Given the description of an element on the screen output the (x, y) to click on. 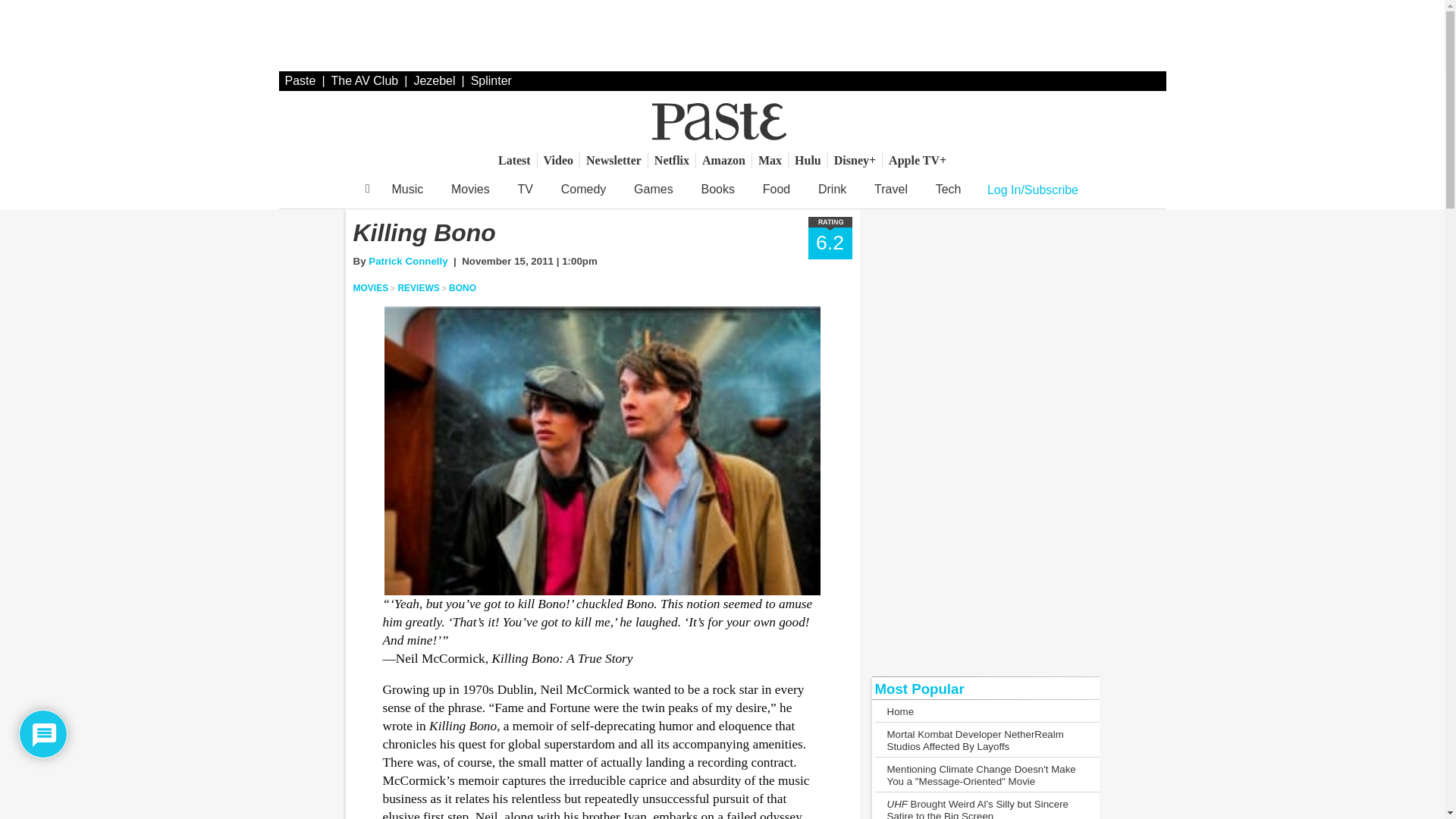
The AV Club (364, 80)
Netflix (671, 160)
Max (769, 160)
Jezebel (433, 80)
Paste (300, 80)
Hulu (808, 160)
Splinter (491, 80)
Video (558, 160)
Amazon (723, 160)
Newsletter (613, 160)
Latest (514, 160)
